Given the description of an element on the screen output the (x, y) to click on. 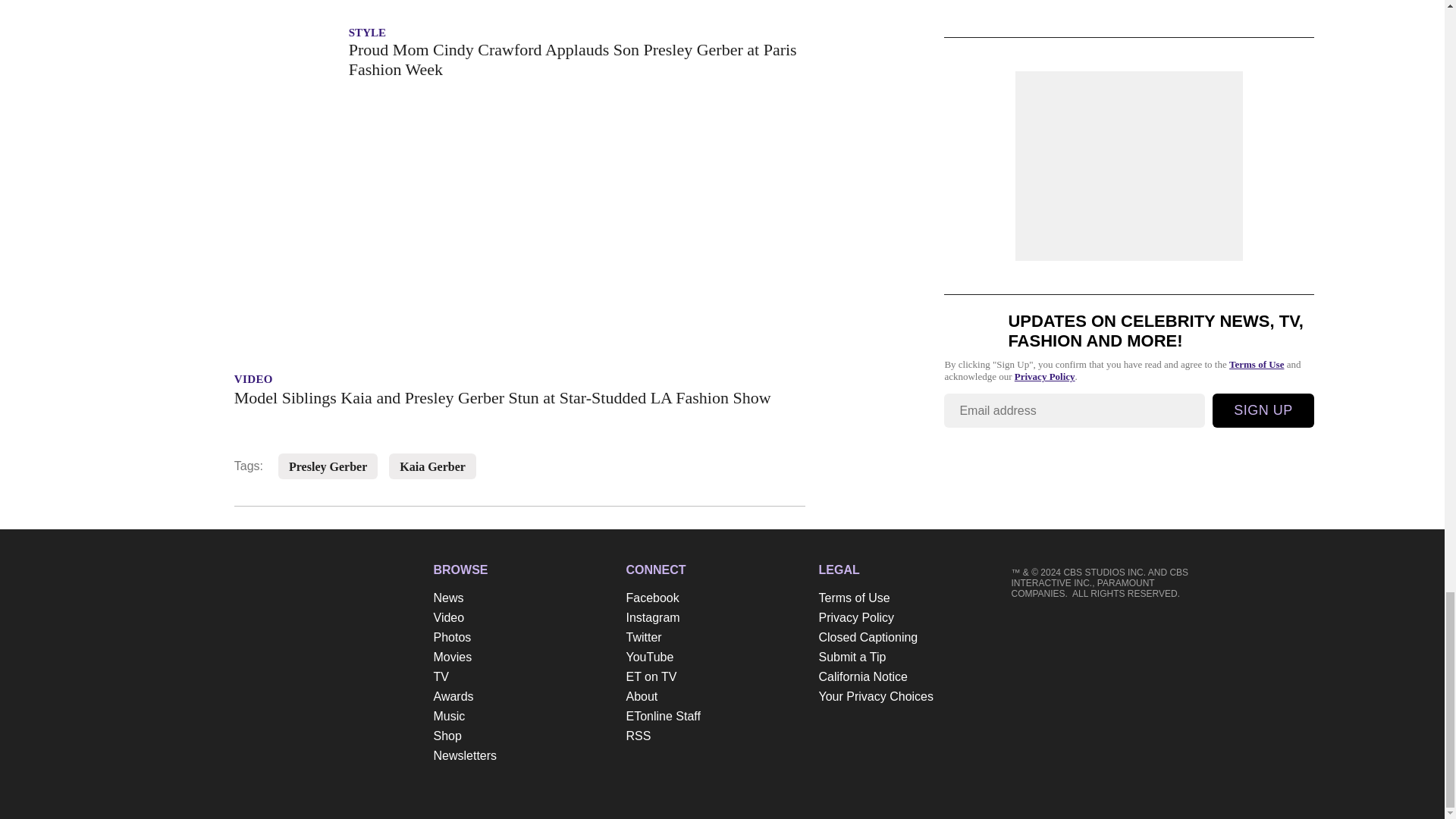
News (522, 598)
Presley Gerber (327, 467)
Photos (522, 637)
Video (522, 618)
Kaia Gerber (431, 467)
